Given the description of an element on the screen output the (x, y) to click on. 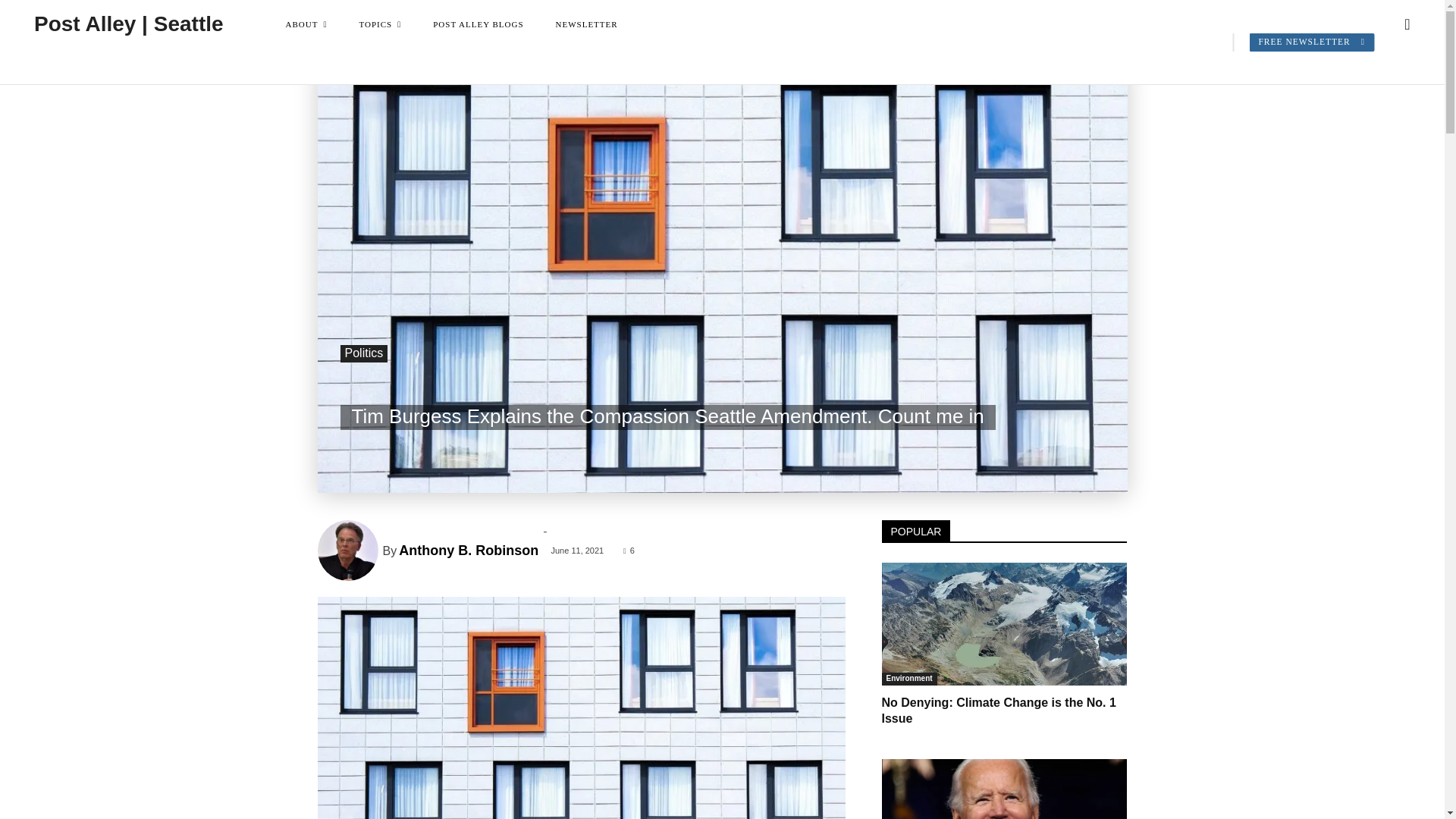
Anthony B. Robinson (349, 550)
ABOUT (306, 24)
FREE NEWSLETTER (1311, 42)
